Given the description of an element on the screen output the (x, y) to click on. 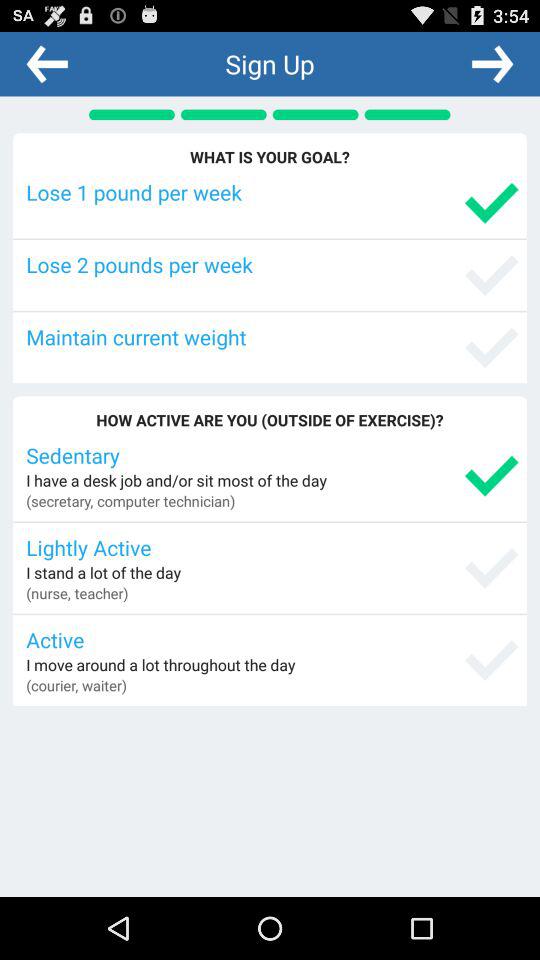
click maintain current weight app (272, 336)
